Given the description of an element on the screen output the (x, y) to click on. 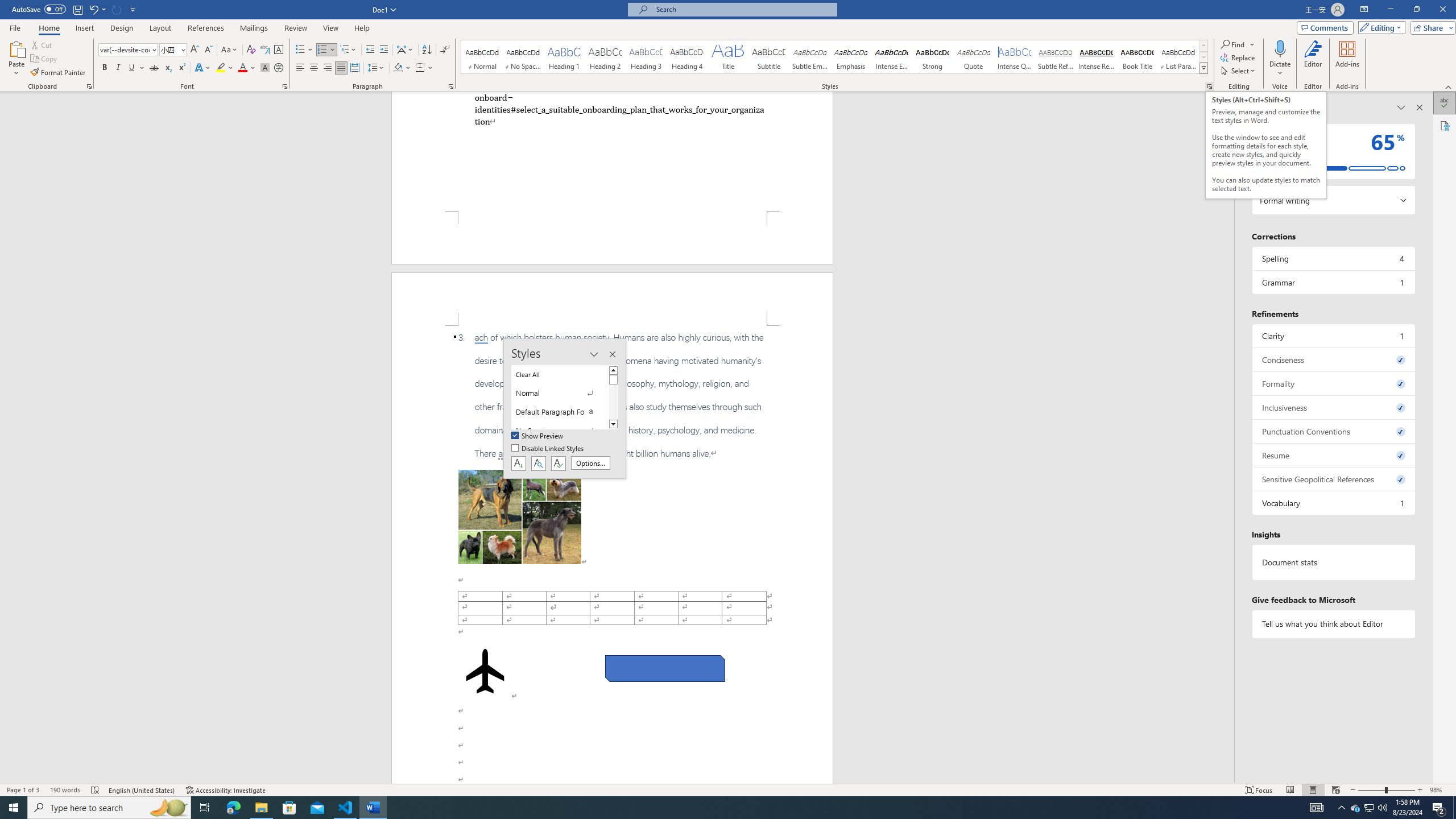
Read Mode (1290, 790)
Align Right (327, 67)
Editor (1444, 102)
Asian Layout (405, 49)
Shading (402, 67)
Resume, 0 issues. Press space or enter to review items. (1333, 454)
Subtle Emphasis (809, 56)
Airplane with solid fill (485, 670)
Tell us what you think about Editor (1333, 624)
Formality, 0 issues. Press space or enter to review items. (1333, 383)
2. (619, 108)
Heading 1 (564, 56)
Home (48, 28)
Underline (136, 67)
